Given the description of an element on the screen output the (x, y) to click on. 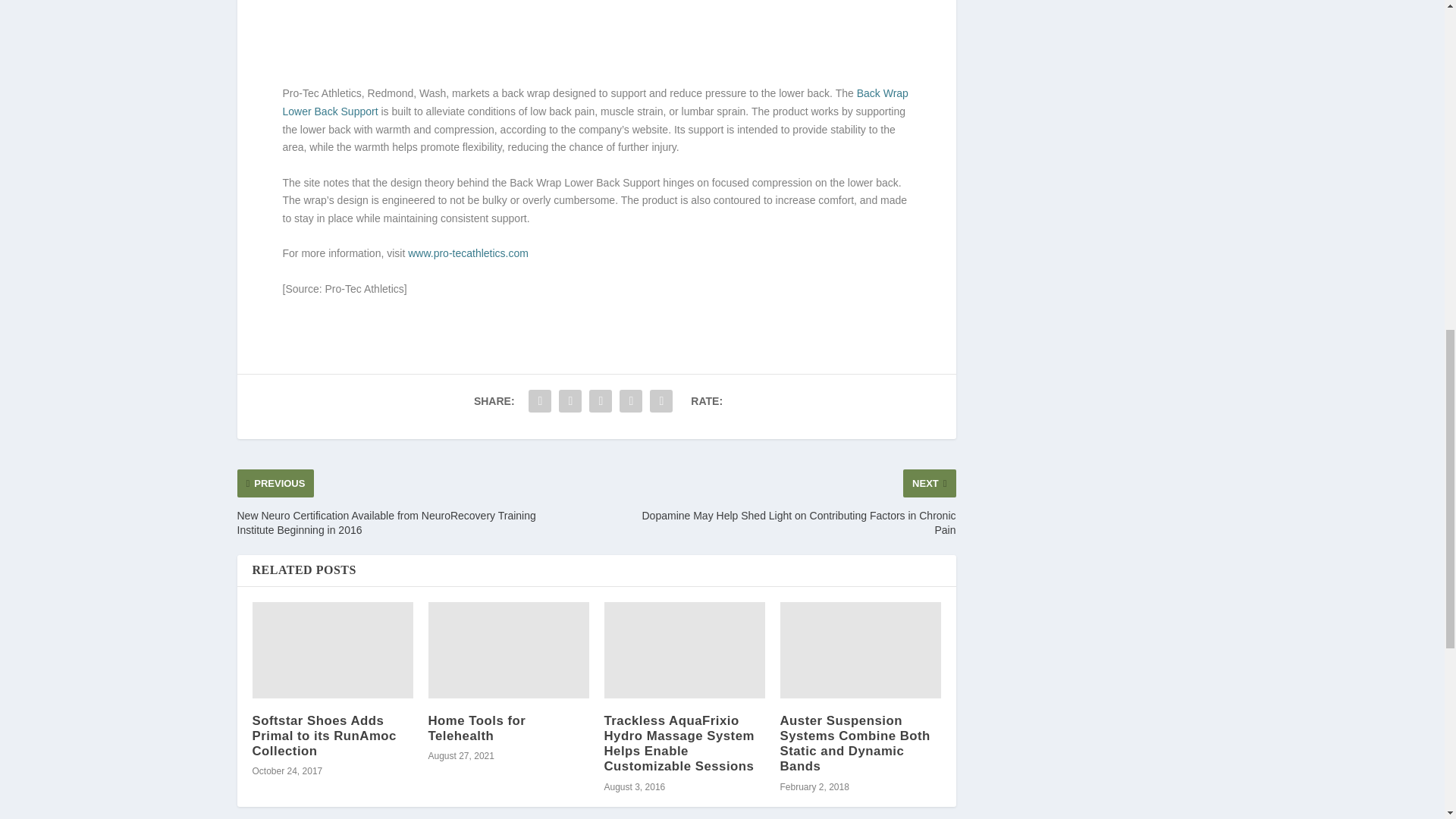
Softstar Shoes Adds Primal to its RunAmoc Collection (331, 649)
Home Tools for Telehealth (508, 649)
